Given the description of an element on the screen output the (x, y) to click on. 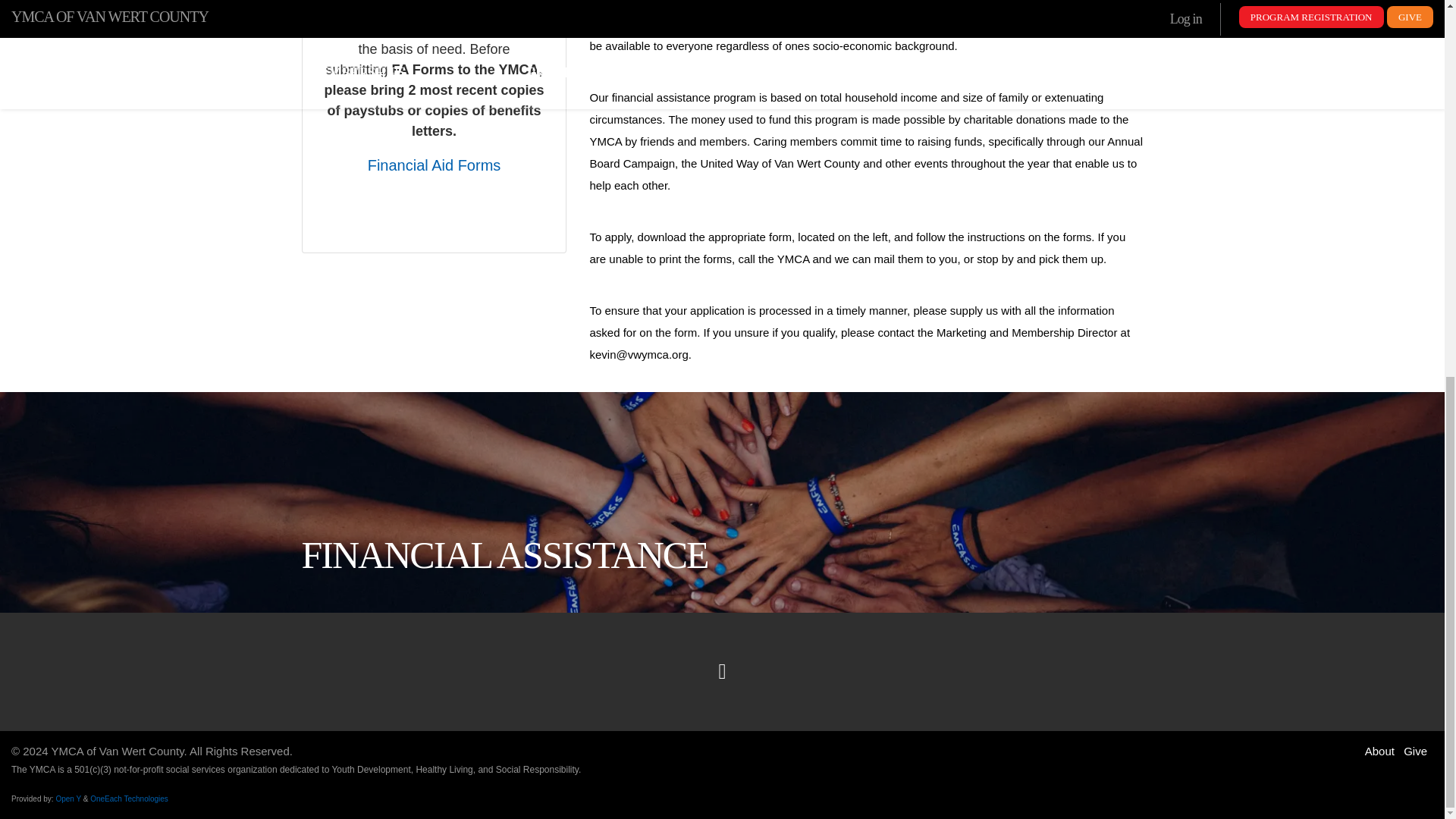
Go to the YMCA Facebook Page (721, 671)
Open Y (68, 798)
